Given the description of an element on the screen output the (x, y) to click on. 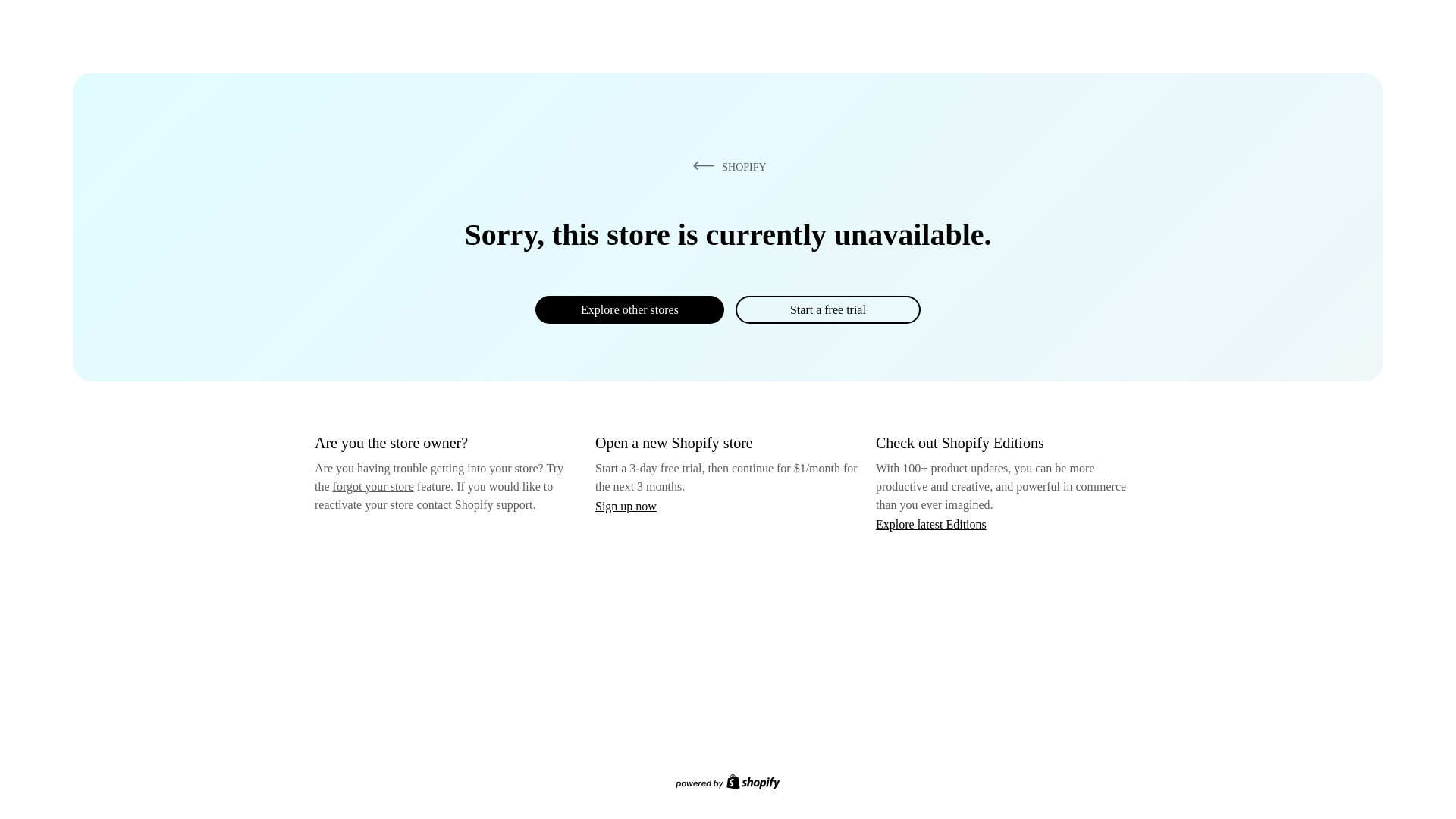
forgot your store (373, 486)
Explore other stores (629, 309)
SHOPIFY (726, 166)
Shopify support (493, 504)
Start a free trial (827, 309)
Explore latest Editions (931, 523)
Sign up now (625, 505)
